Given the description of an element on the screen output the (x, y) to click on. 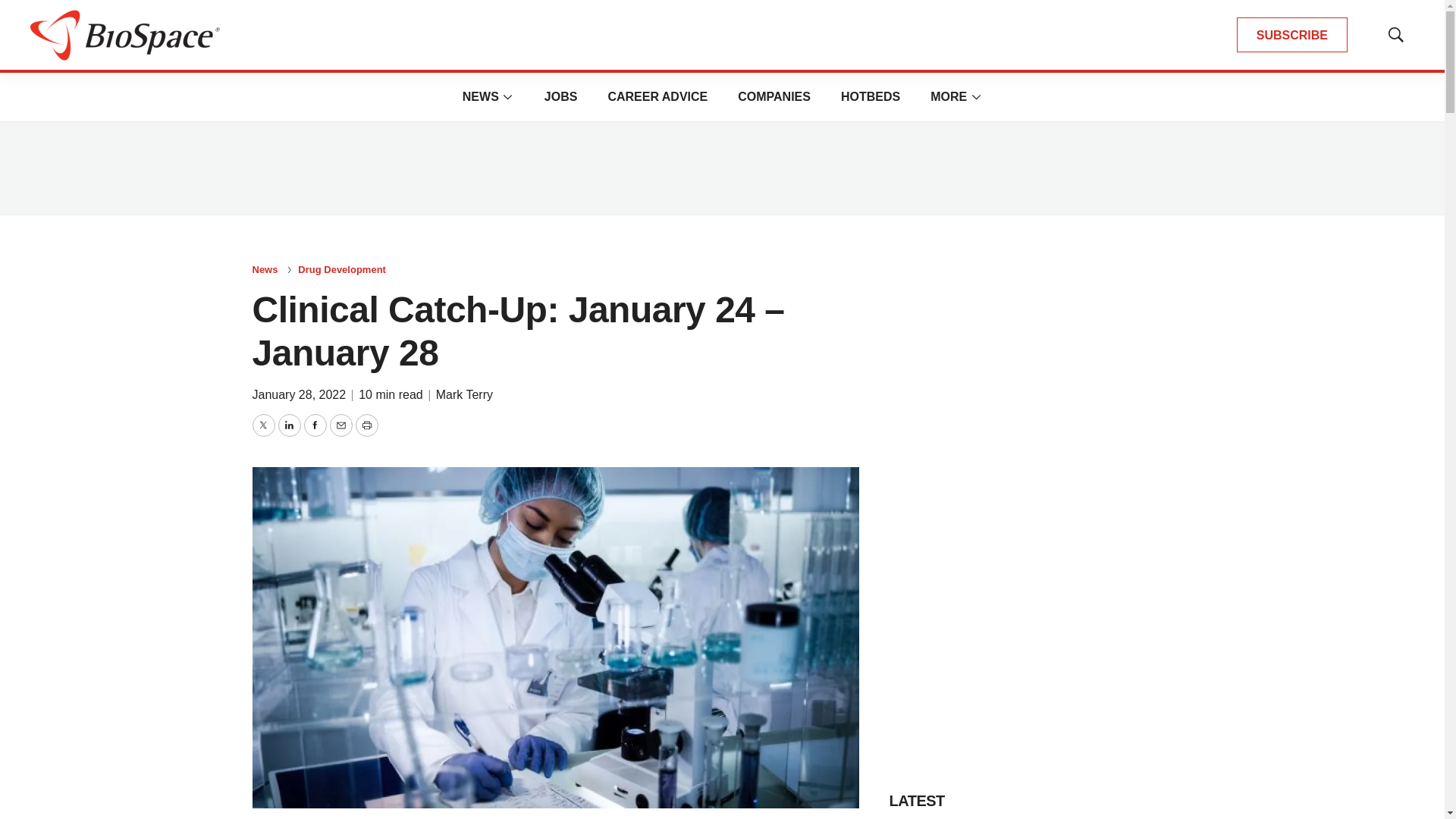
Show Search (1395, 34)
NEWS (481, 96)
SUBSCRIBE (1292, 34)
3rd party ad content (721, 168)
